Given the description of an element on the screen output the (x, y) to click on. 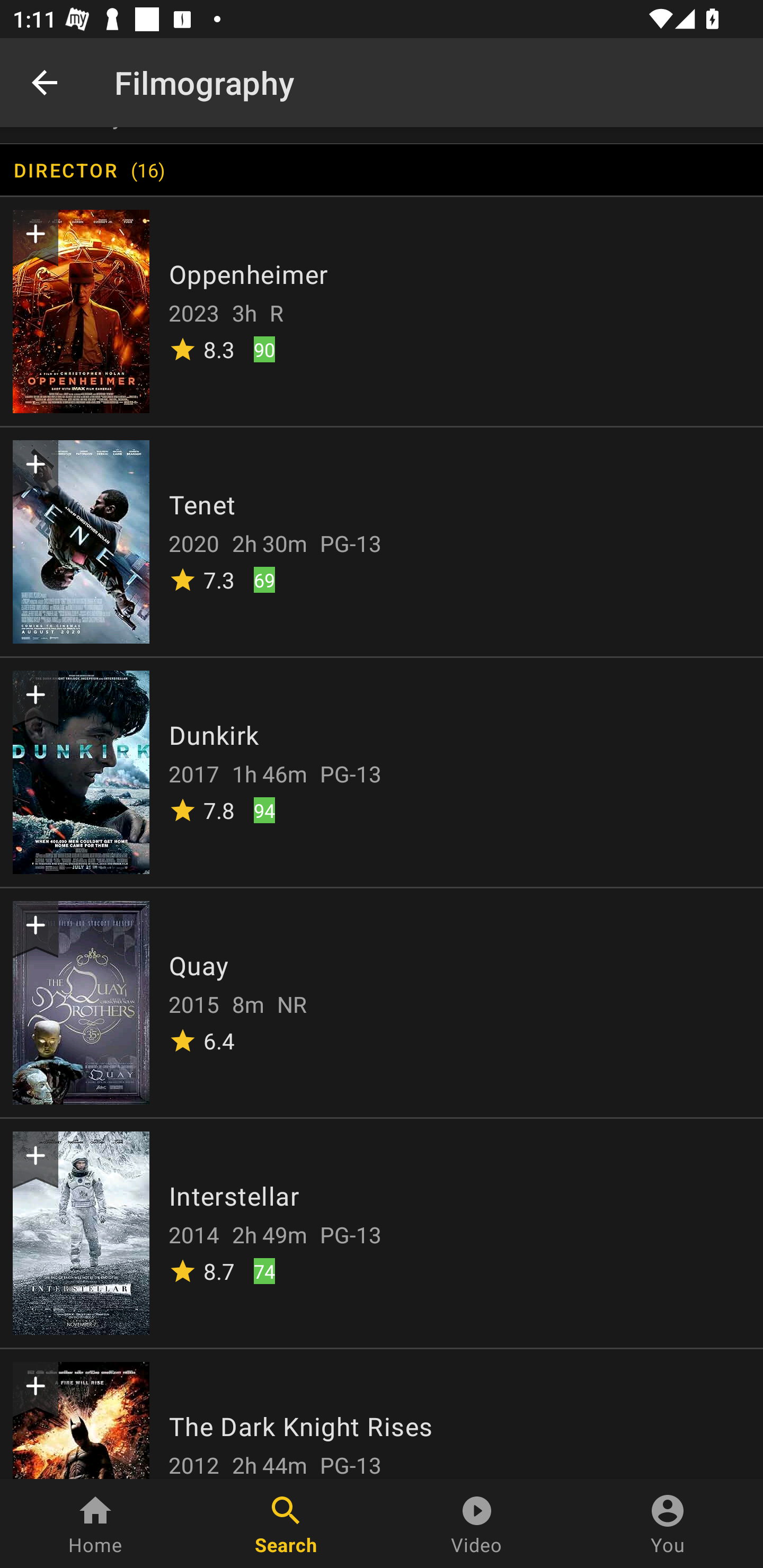
Oppenheimer 2023 3h R 8.3 90 (381, 311)
Tenet 2020 2h 30m PG-13 7.3 69 (381, 541)
Dunkirk 2017 1h 46m PG-13 7.8 94 (381, 771)
Quay 2015 8m NR 6.4 (381, 1001)
Interstellar 2014 2h 49m PG-13 8.7 74 (381, 1231)
The Dark Knight Rises 2012 2h 44m PG-13 (381, 1412)
Home (95, 1523)
Video (476, 1523)
You (667, 1523)
